Given the description of an element on the screen output the (x, y) to click on. 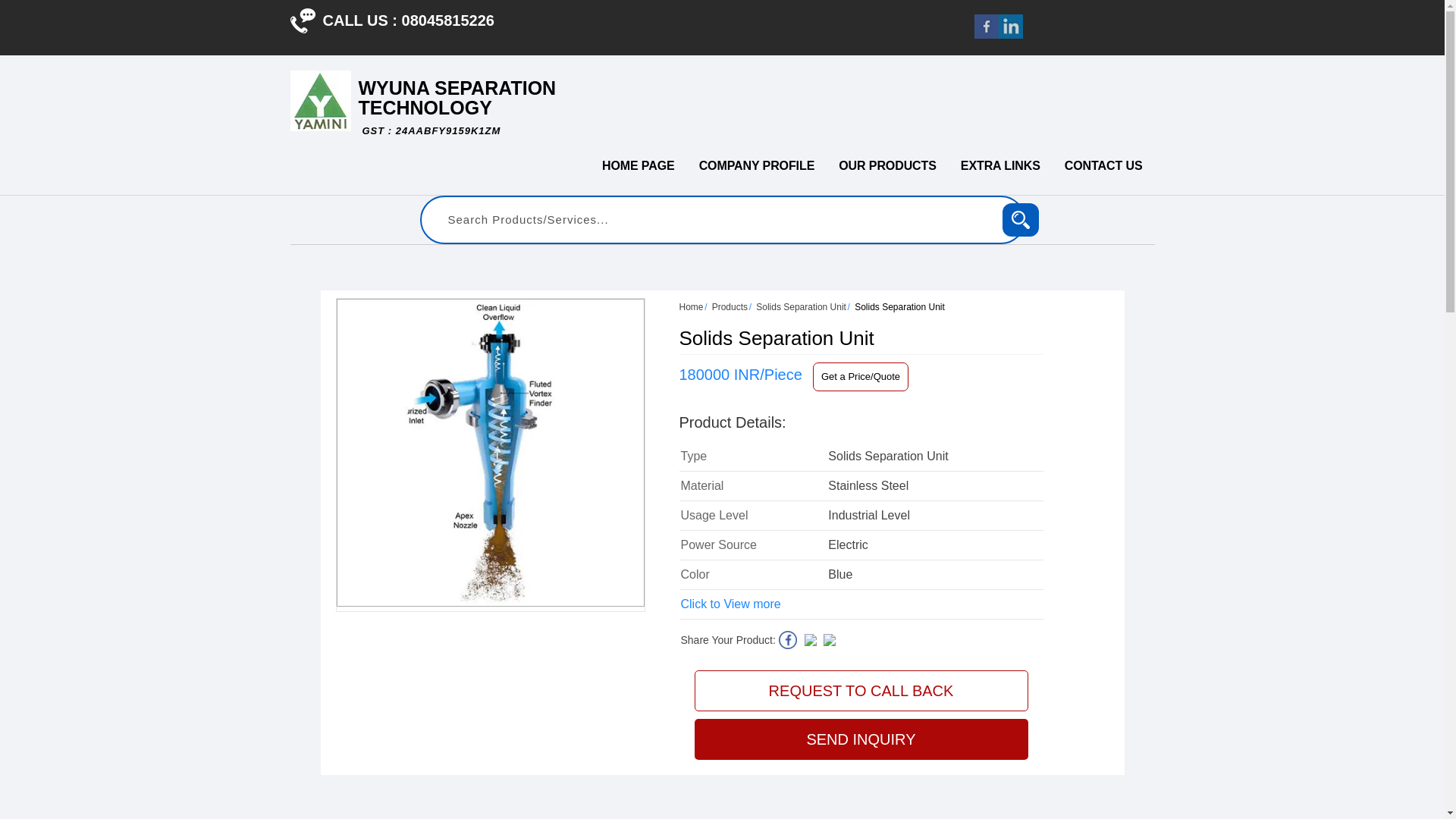
HOME PAGE (638, 165)
submit (457, 107)
Call Us (1021, 219)
Search (301, 20)
OUR PRODUCTS (1021, 219)
COMPANY PROFILE (888, 165)
Facebook (757, 165)
LinkedIn (985, 33)
